Given the description of an element on the screen output the (x, y) to click on. 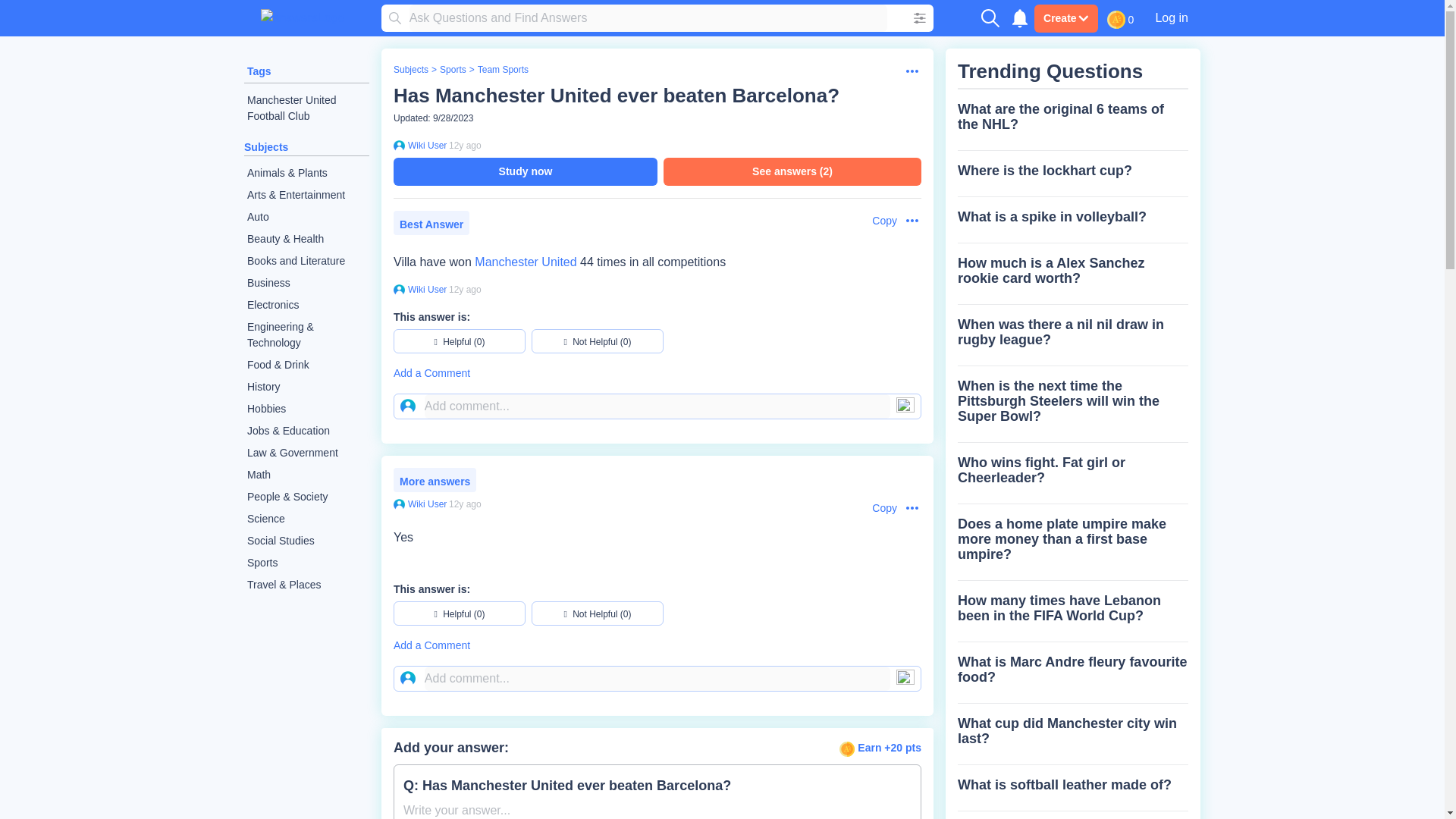
Social Studies (306, 540)
Team Sports (502, 69)
Create (1065, 18)
Subjects (410, 69)
Wiki User (425, 289)
Electronics (306, 305)
Study now (525, 171)
Subjects (266, 146)
Sports (452, 69)
Wiki User (425, 145)
